Given the description of an element on the screen output the (x, y) to click on. 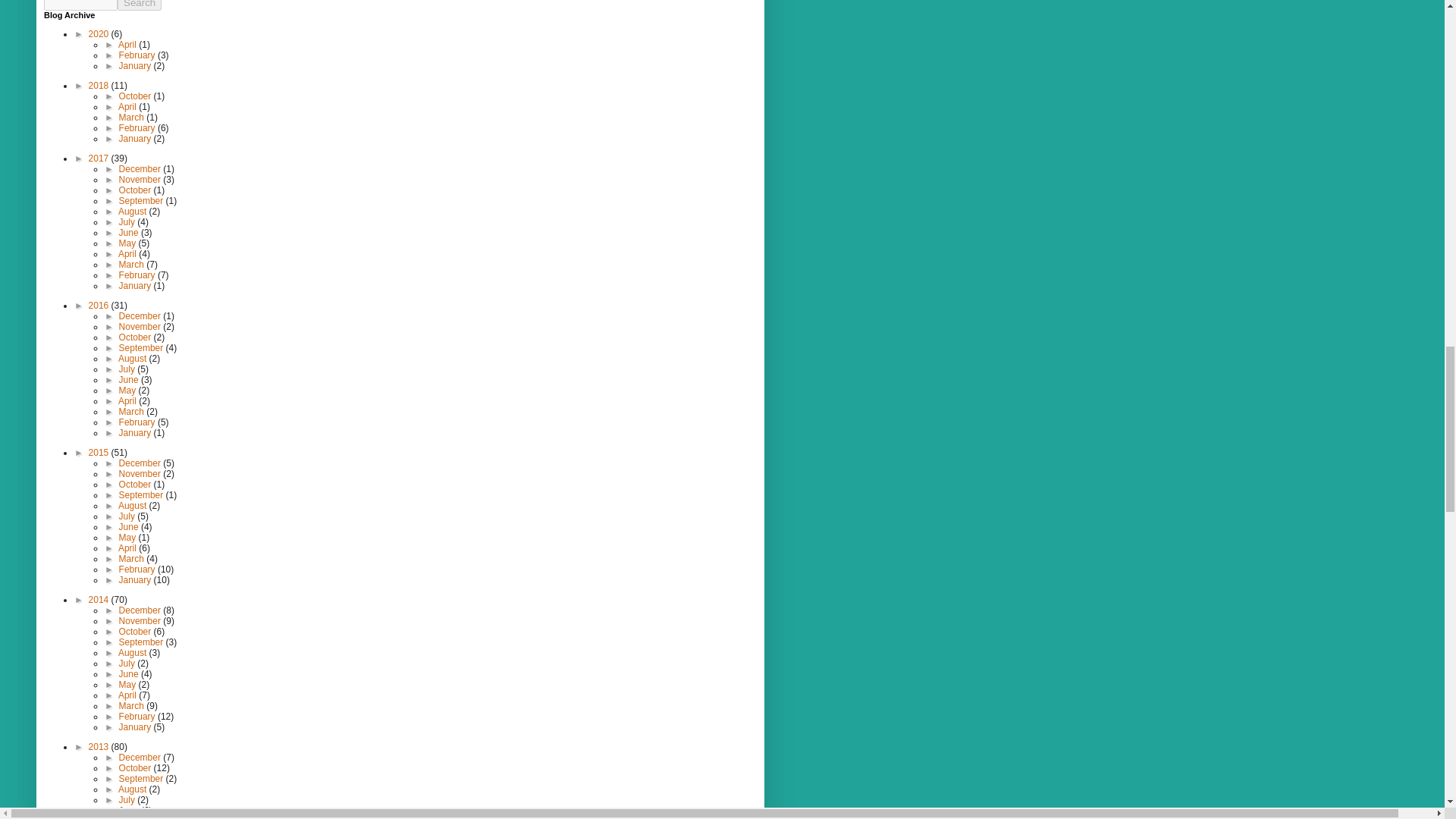
October (136, 95)
Search (139, 5)
April (127, 106)
April (127, 44)
search (139, 5)
February (138, 54)
Search (139, 5)
2020 (100, 33)
Search (139, 5)
March (133, 117)
